Given the description of an element on the screen output the (x, y) to click on. 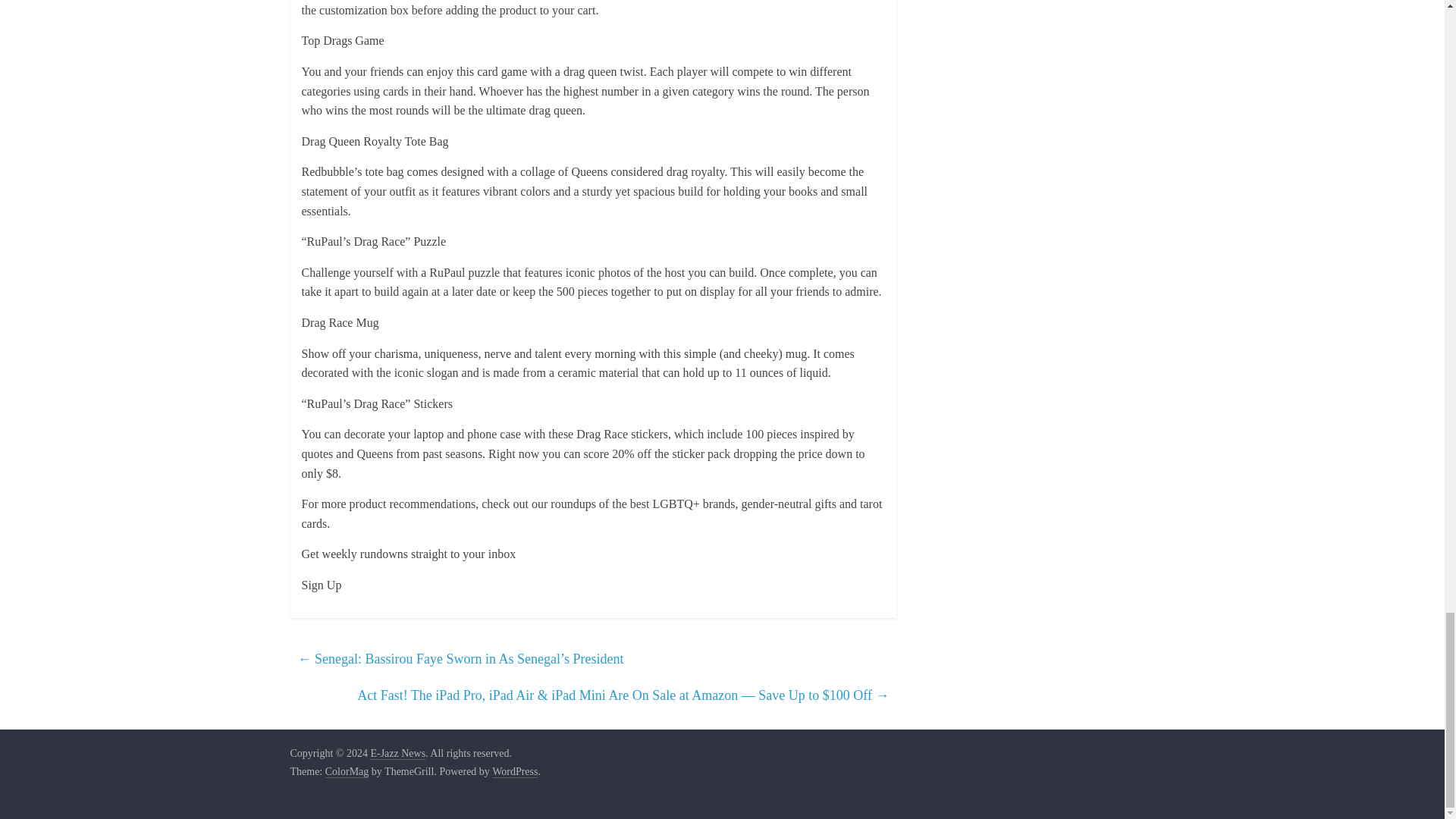
E-Jazz News (397, 753)
WordPress (514, 771)
E-Jazz News (397, 753)
WordPress (514, 771)
ColorMag (346, 771)
ColorMag (346, 771)
